Given the description of an element on the screen output the (x, y) to click on. 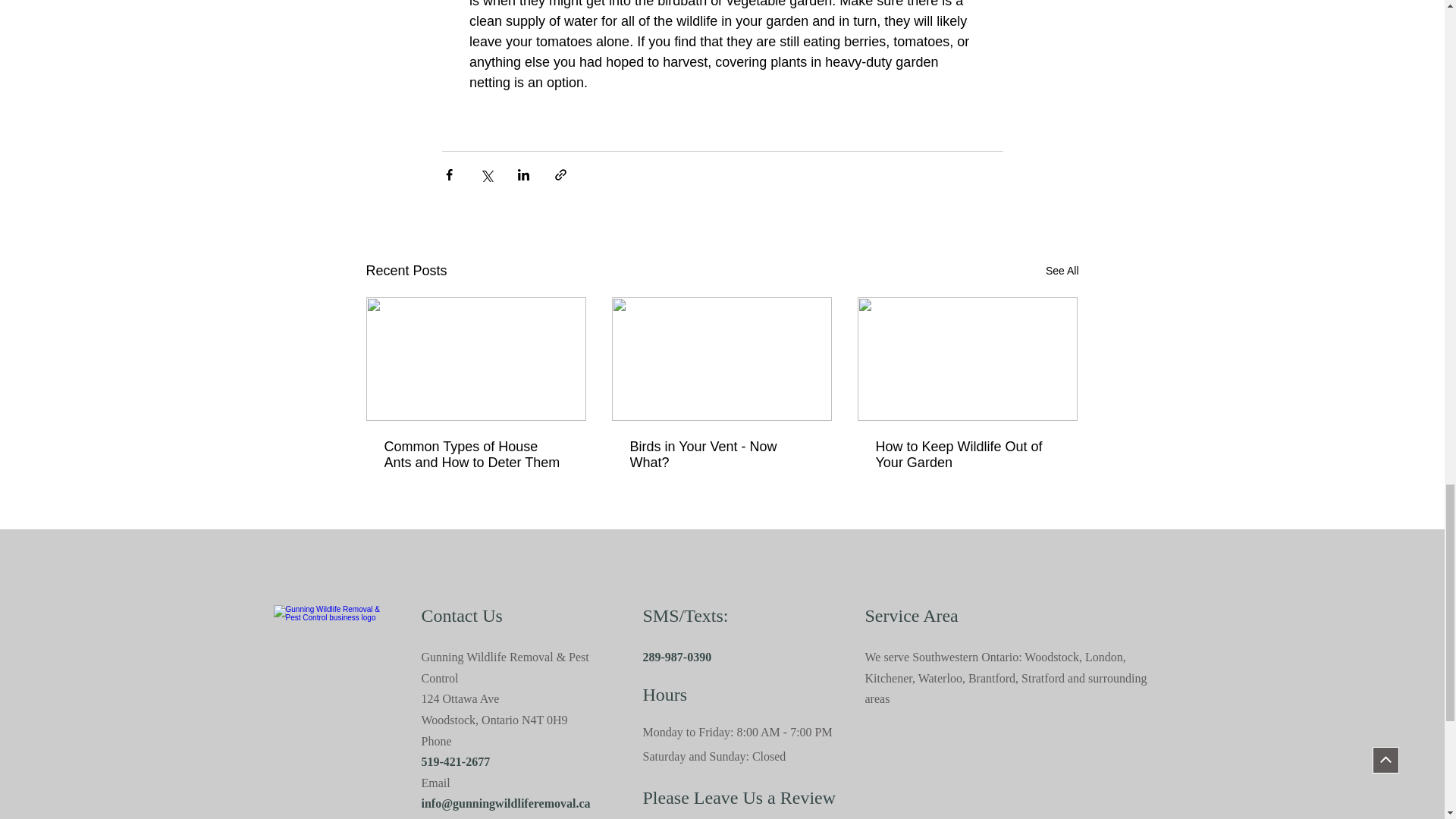
Common Types of House Ants and How to Deter Them (475, 454)
How to Keep Wildlife Out of Your Garden (966, 454)
See All (1061, 270)
Birds in Your Vent - Now What? (720, 454)
